Given the description of an element on the screen output the (x, y) to click on. 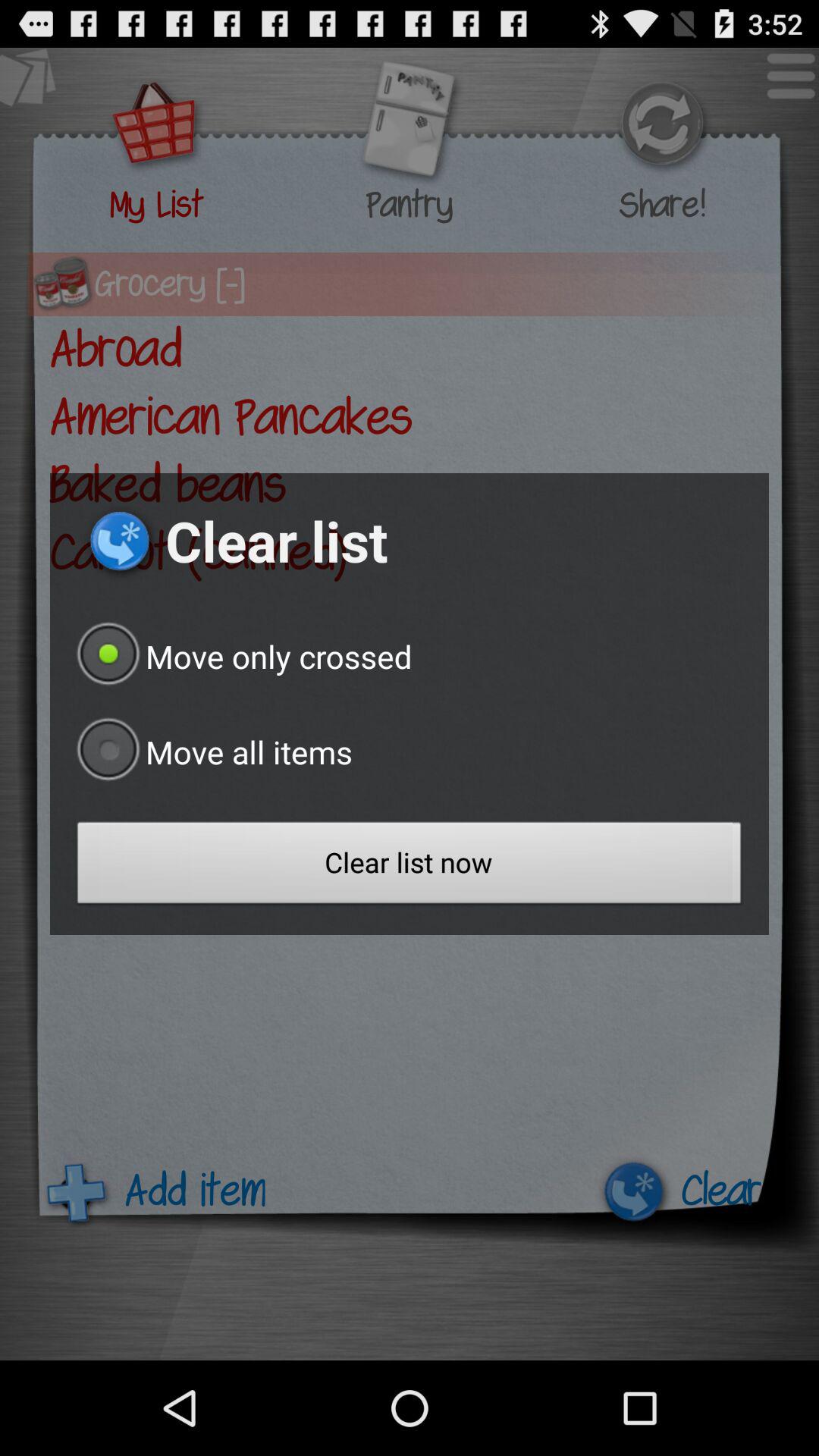
click move all items icon (210, 751)
